Given the description of an element on the screen output the (x, y) to click on. 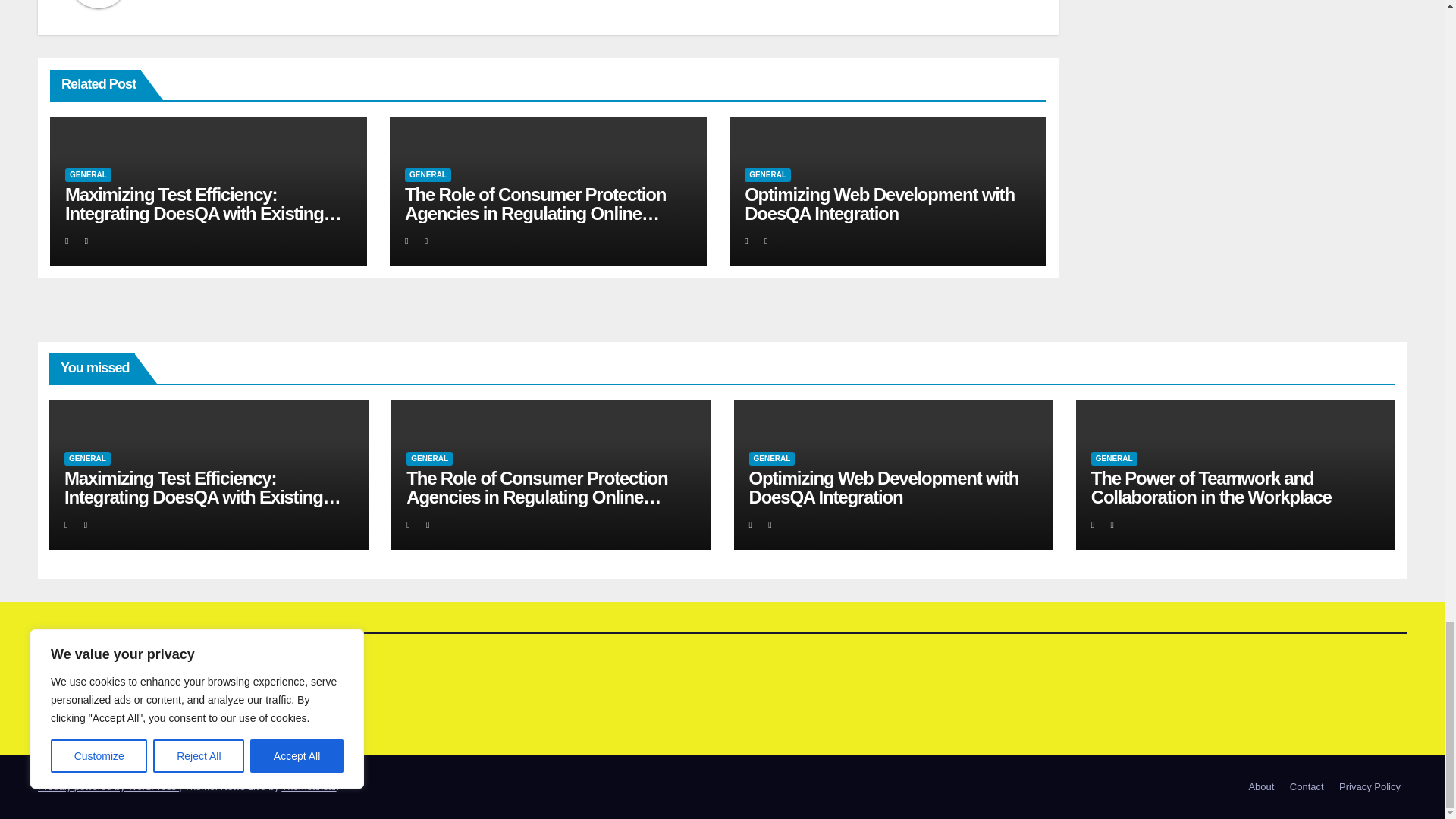
About (1260, 786)
Privacy Policy (1369, 786)
Contact (1307, 786)
